Given the description of an element on the screen output the (x, y) to click on. 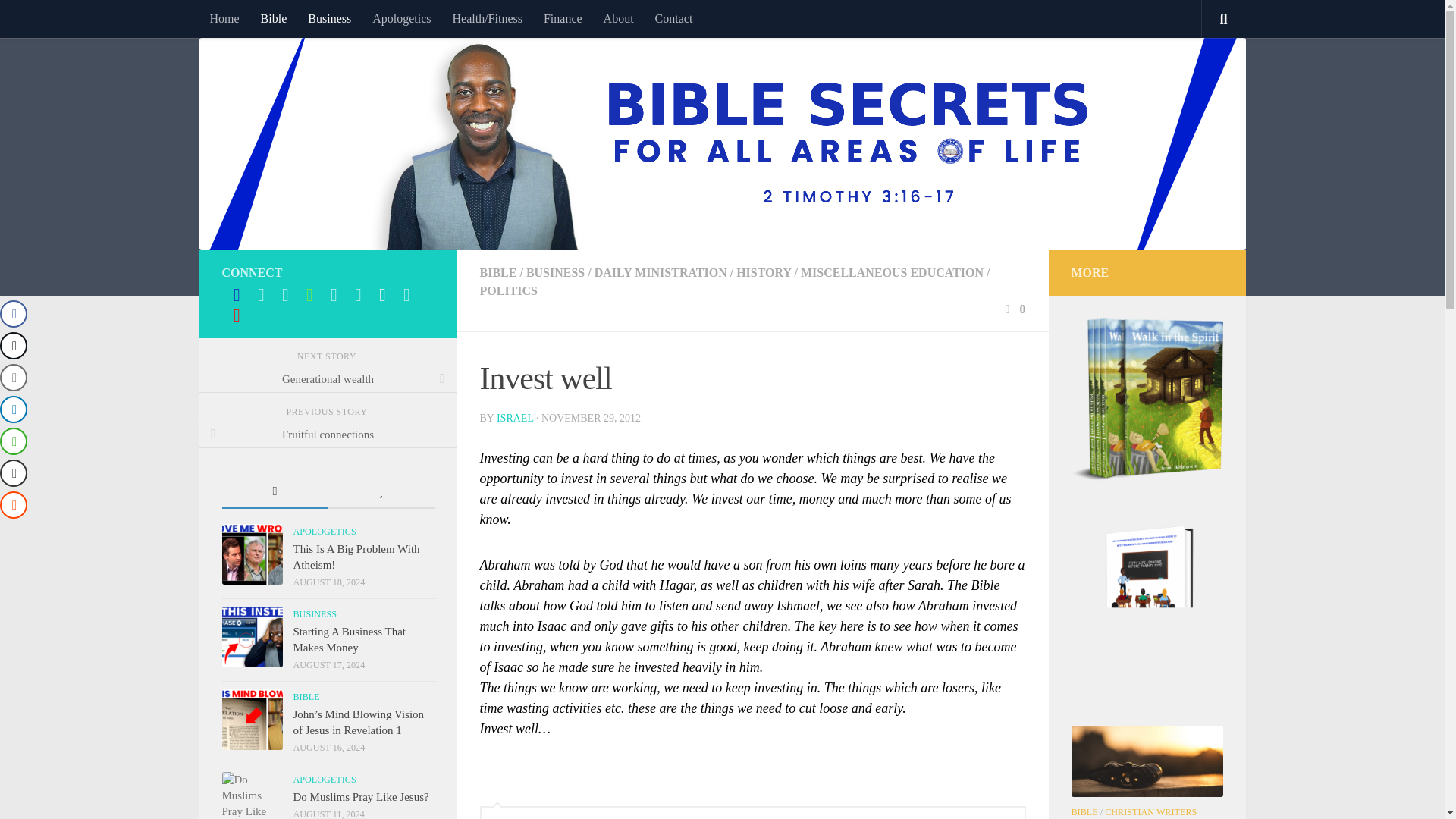
Prayers on Youtube (381, 294)
0 (1013, 308)
Business (329, 18)
HISTORY (763, 272)
Bible Study on Youtube (236, 294)
BIBLE (497, 272)
Follow us on Tiktok (357, 294)
Bible Business Channel On Youtube (308, 294)
Apologetics (401, 18)
Connect on Facebook (285, 294)
